Given the description of an element on the screen output the (x, y) to click on. 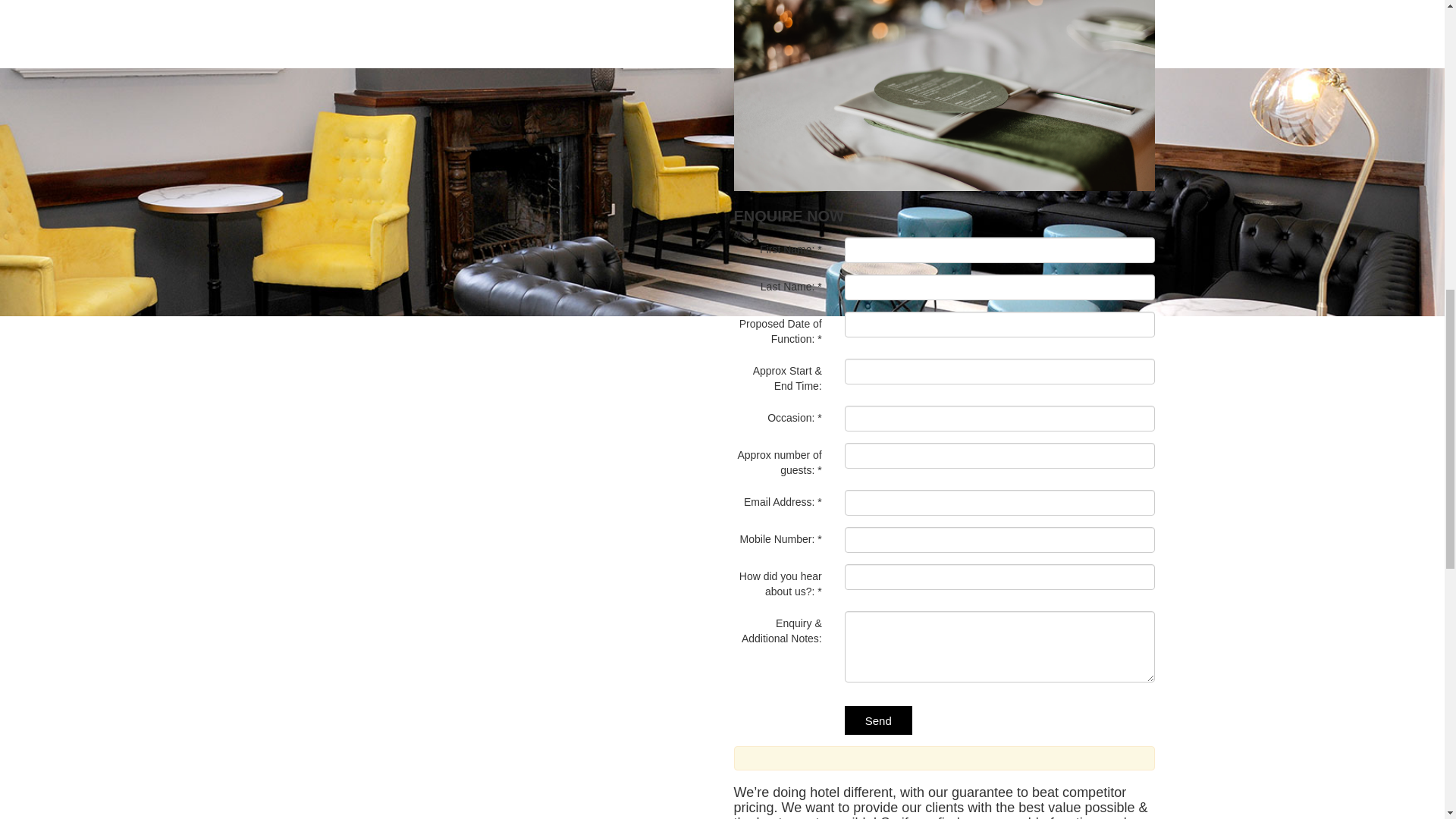
Send (878, 719)
